Given the description of an element on the screen output the (x, y) to click on. 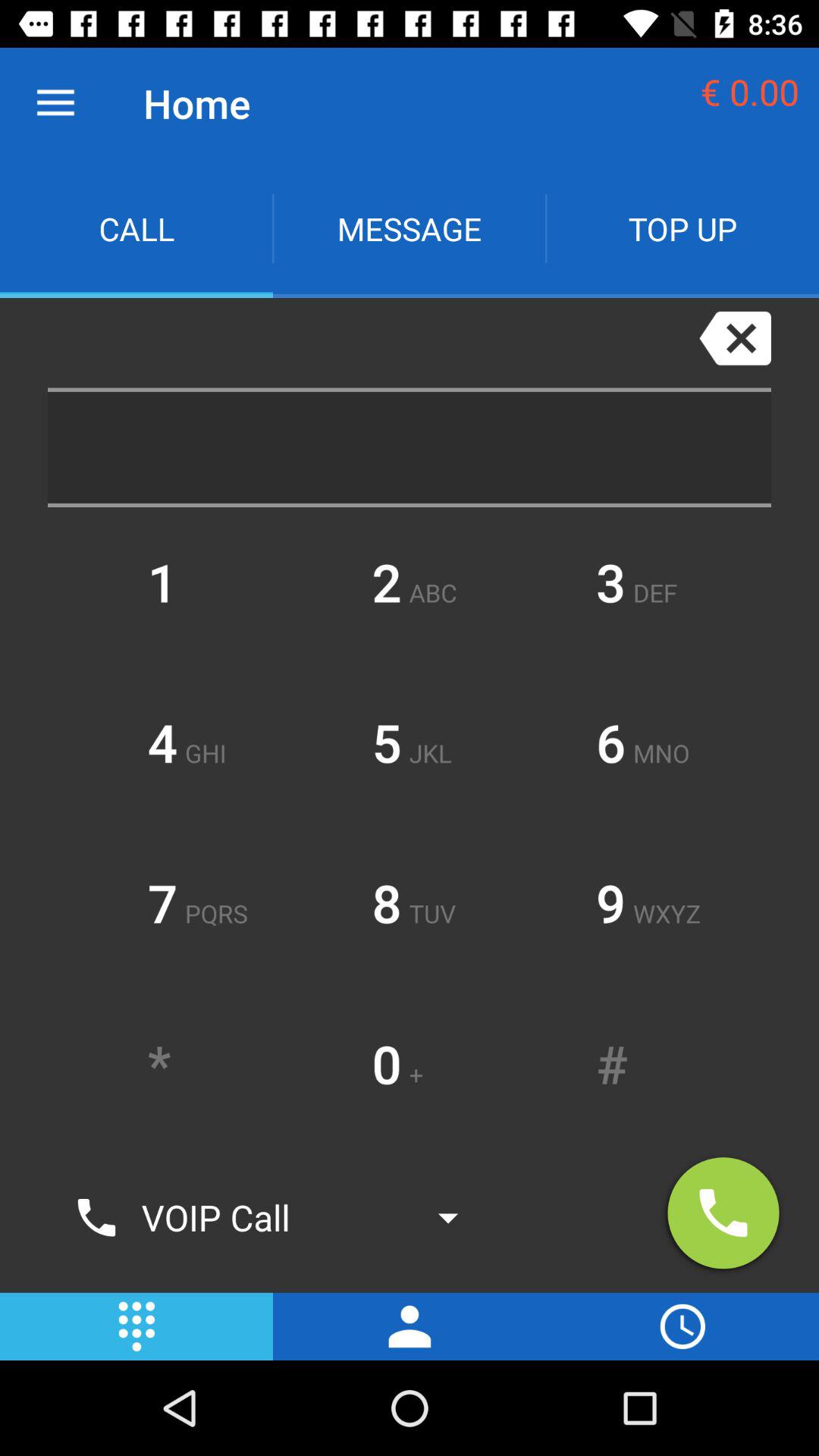
click the icon next to call item (409, 228)
